Given the description of an element on the screen output the (x, y) to click on. 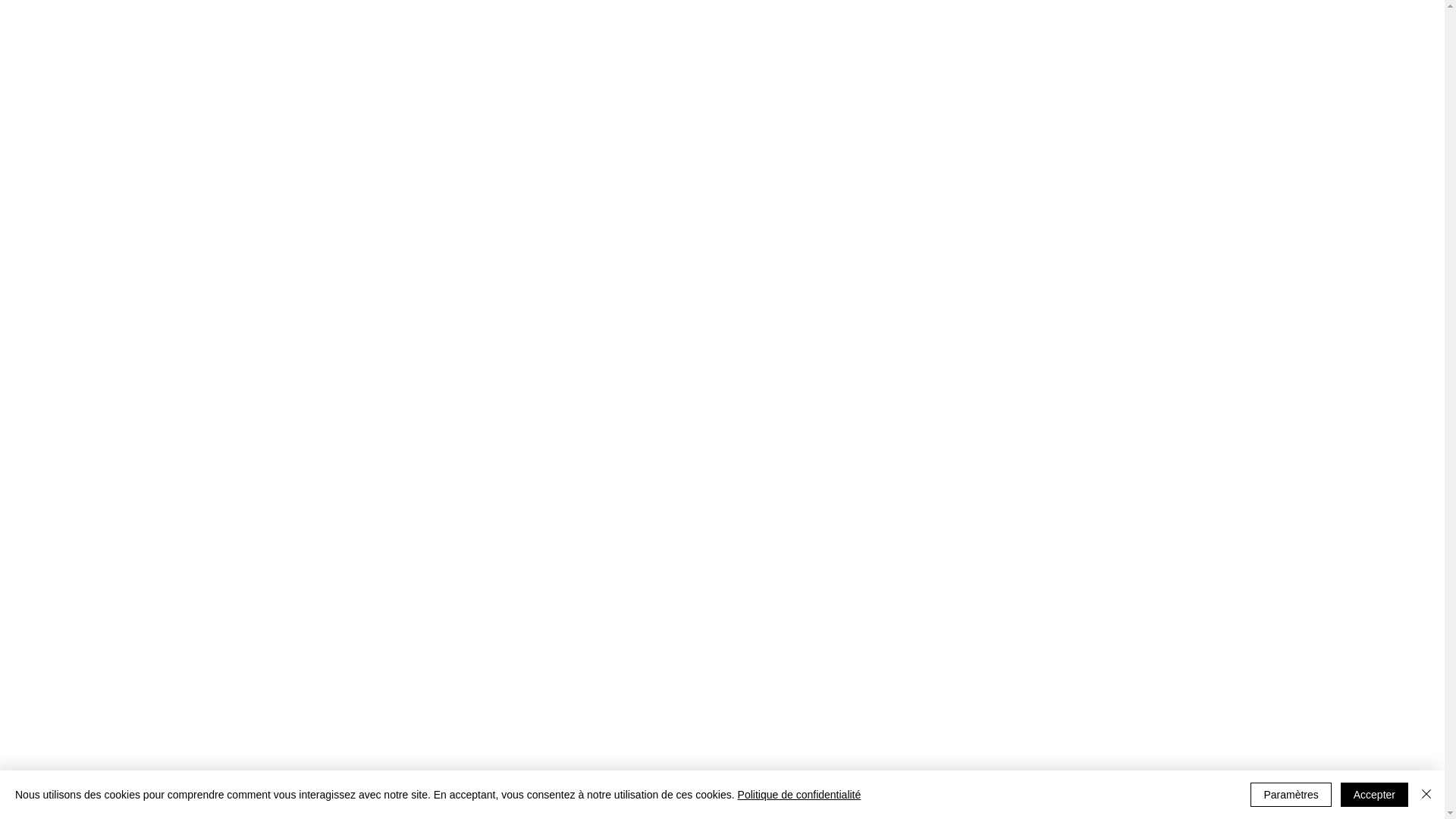
Accepter Element type: text (1374, 794)
